Given the description of an element on the screen output the (x, y) to click on. 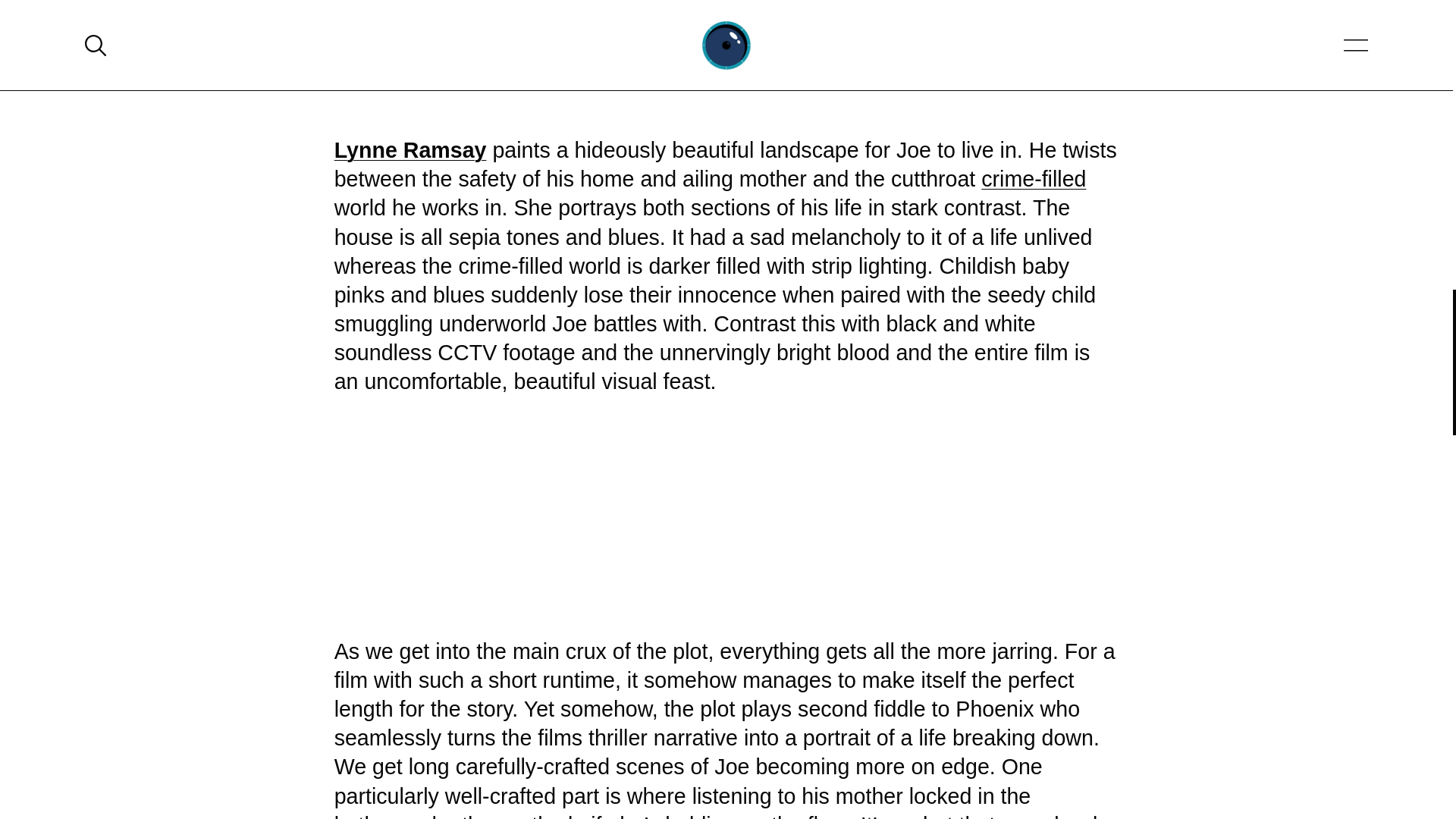
Lynne Ramsay (410, 149)
crime-filled (1033, 178)
